Given the description of an element on the screen output the (x, y) to click on. 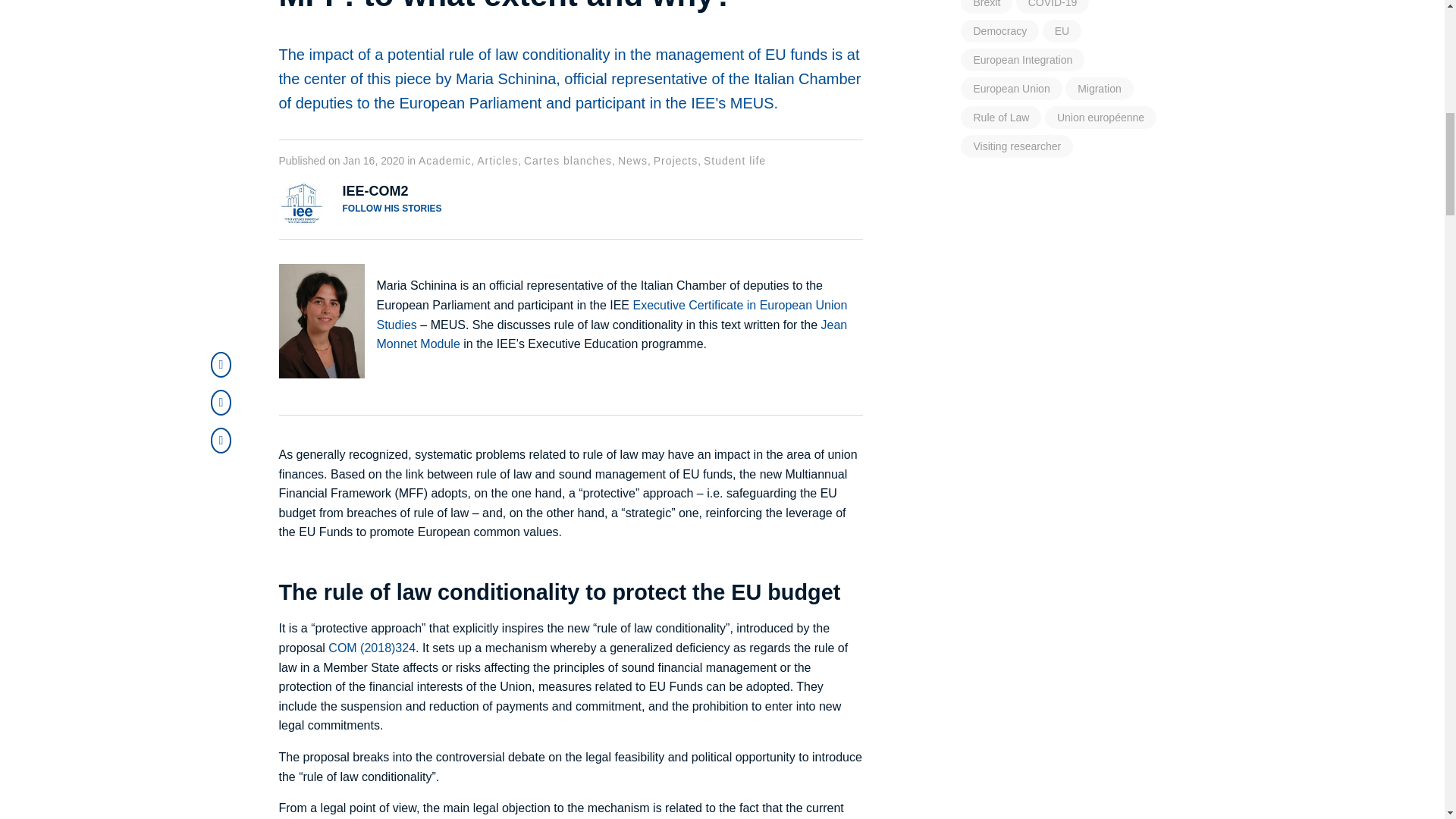
Projects (675, 160)
Articles (497, 160)
News (632, 160)
Cartes blanches (567, 160)
Student life (734, 160)
Academic (444, 160)
